Given the description of an element on the screen output the (x, y) to click on. 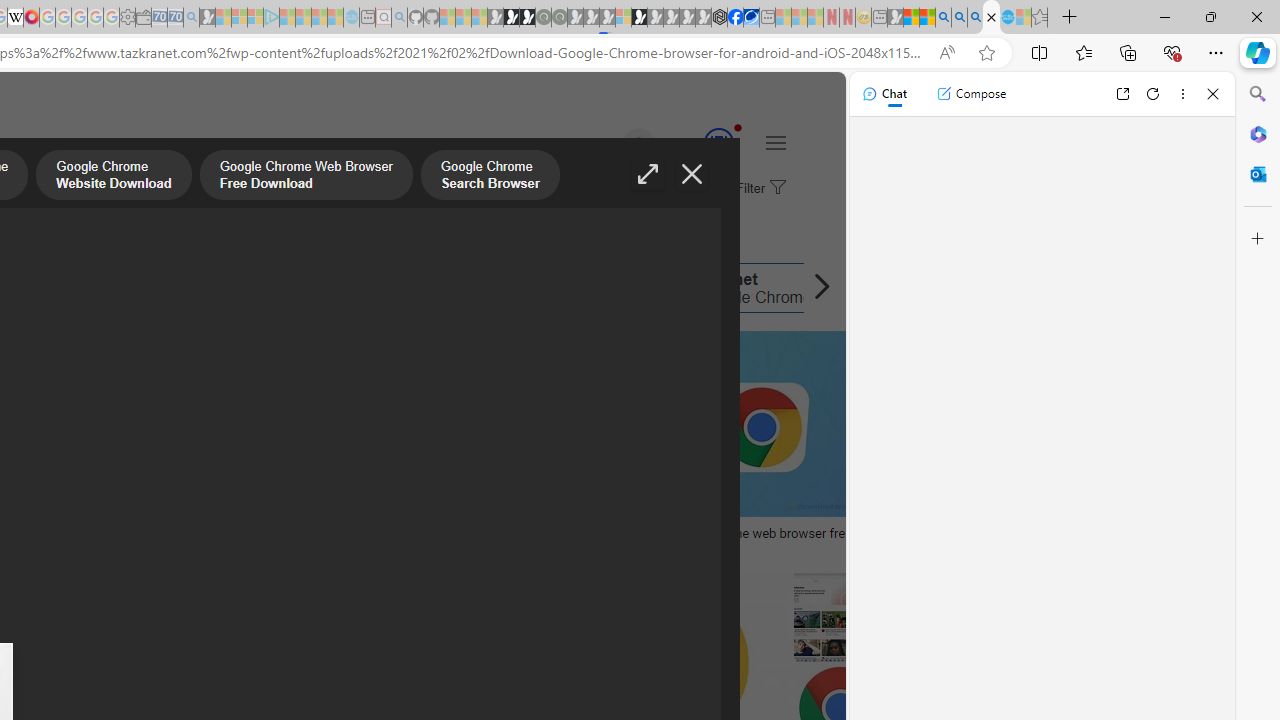
Nordace | Facebook (735, 17)
AutomationID: rh_meter (718, 142)
Latest Google Chrome Free Download (322, 287)
2009 Bing officially replaced Live Search on June 3 - Search (959, 17)
Google Chrome Website Download (113, 177)
